Given the description of an element on the screen output the (x, y) to click on. 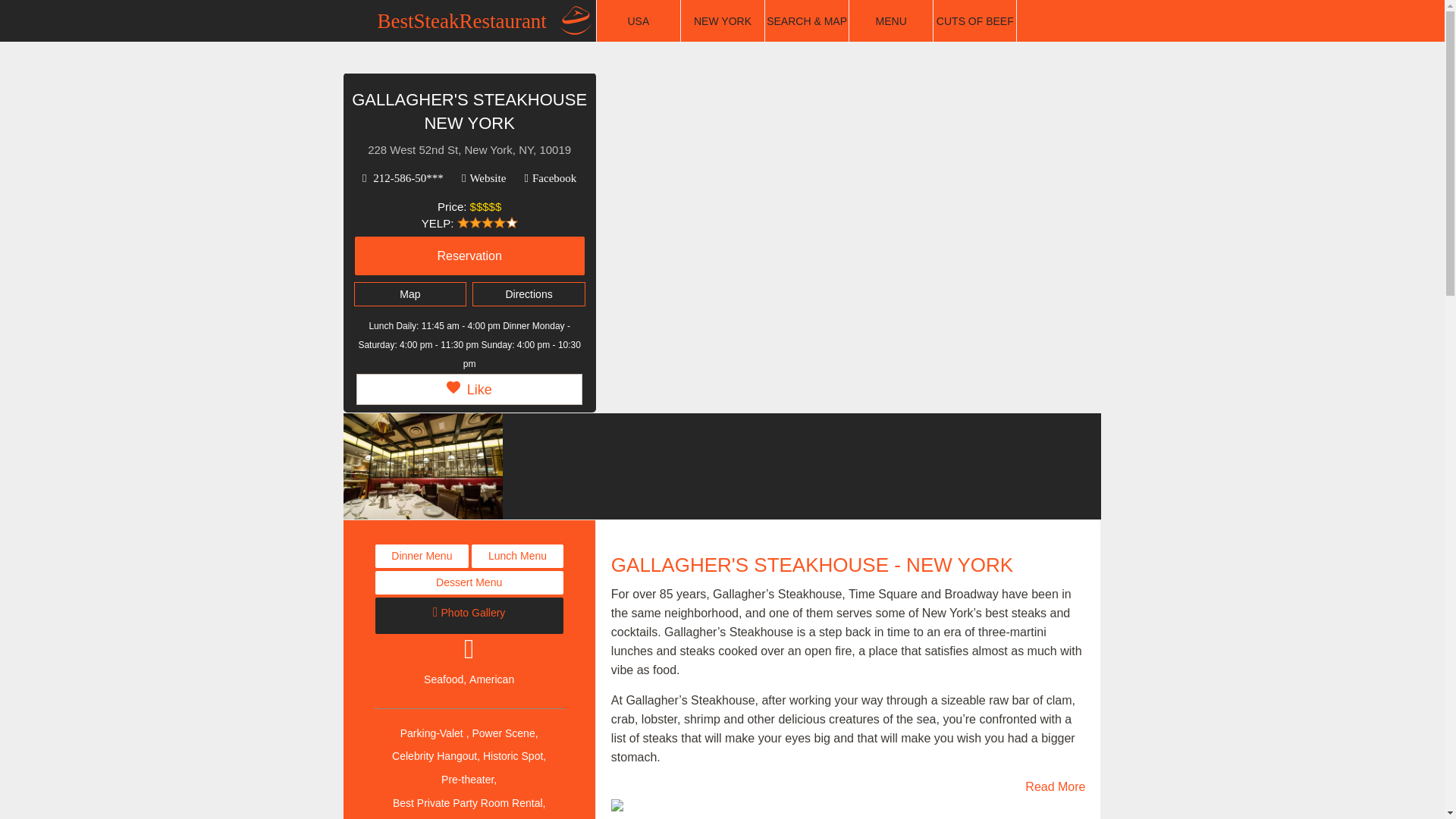
Contact us (1072, 15)
MENU (890, 20)
Click to download the menu (517, 556)
Facebook (550, 178)
Directions (528, 293)
BestSteakRestaurant (481, 20)
228 West 52nd St, New York, NY, 10019 (469, 149)
Directions (528, 293)
Map (409, 293)
Select by menu (890, 20)
